Given the description of an element on the screen output the (x, y) to click on. 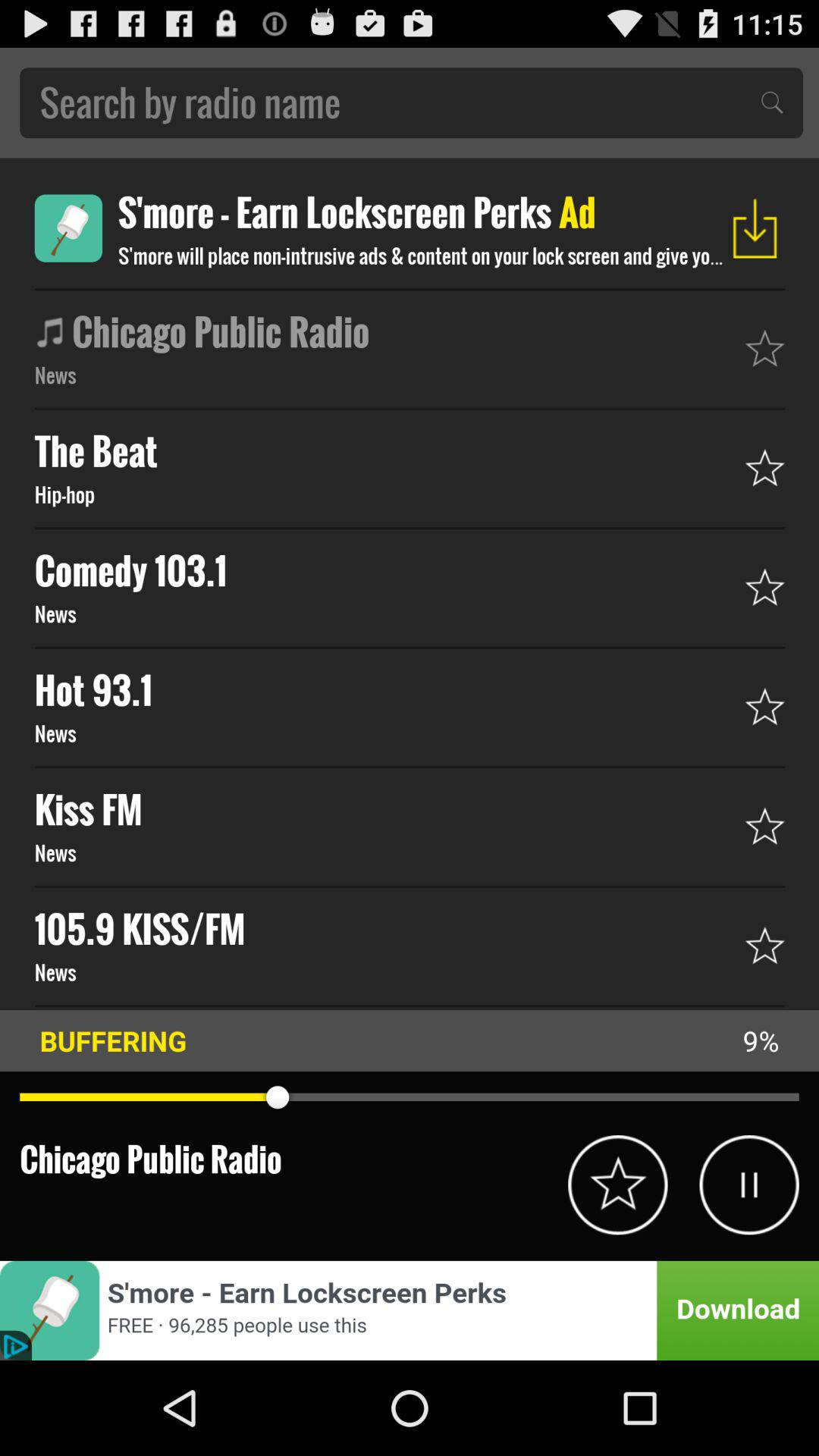
pause or play (749, 1184)
